Given the description of an element on the screen output the (x, y) to click on. 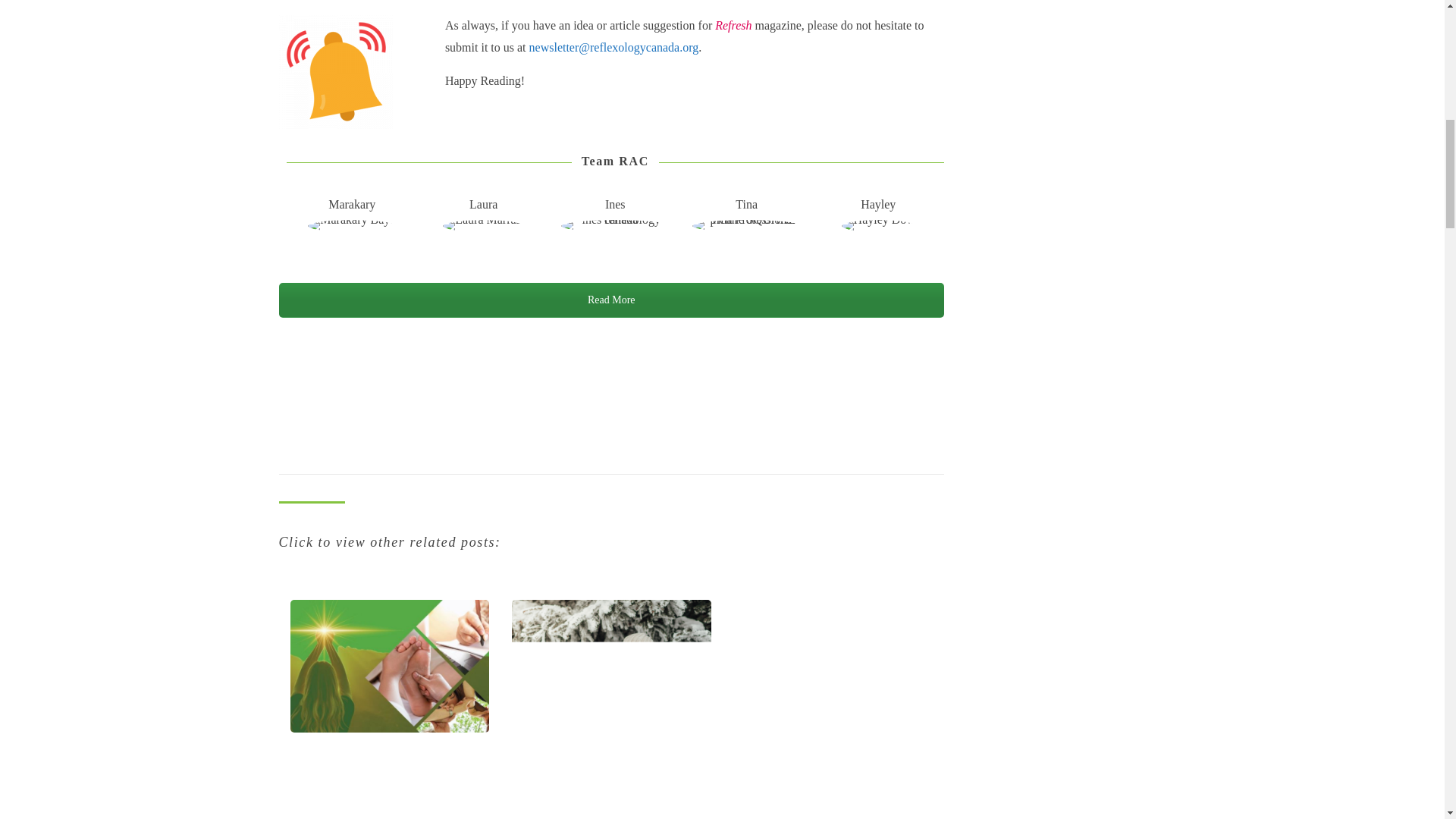
Hayley Dow (878, 225)
Laura Marrast (483, 225)
Marakary Bayo (351, 225)
ines reflexology canada (614, 225)
Tina Professional picture SQUARE (747, 225)
